Given the description of an element on the screen output the (x, y) to click on. 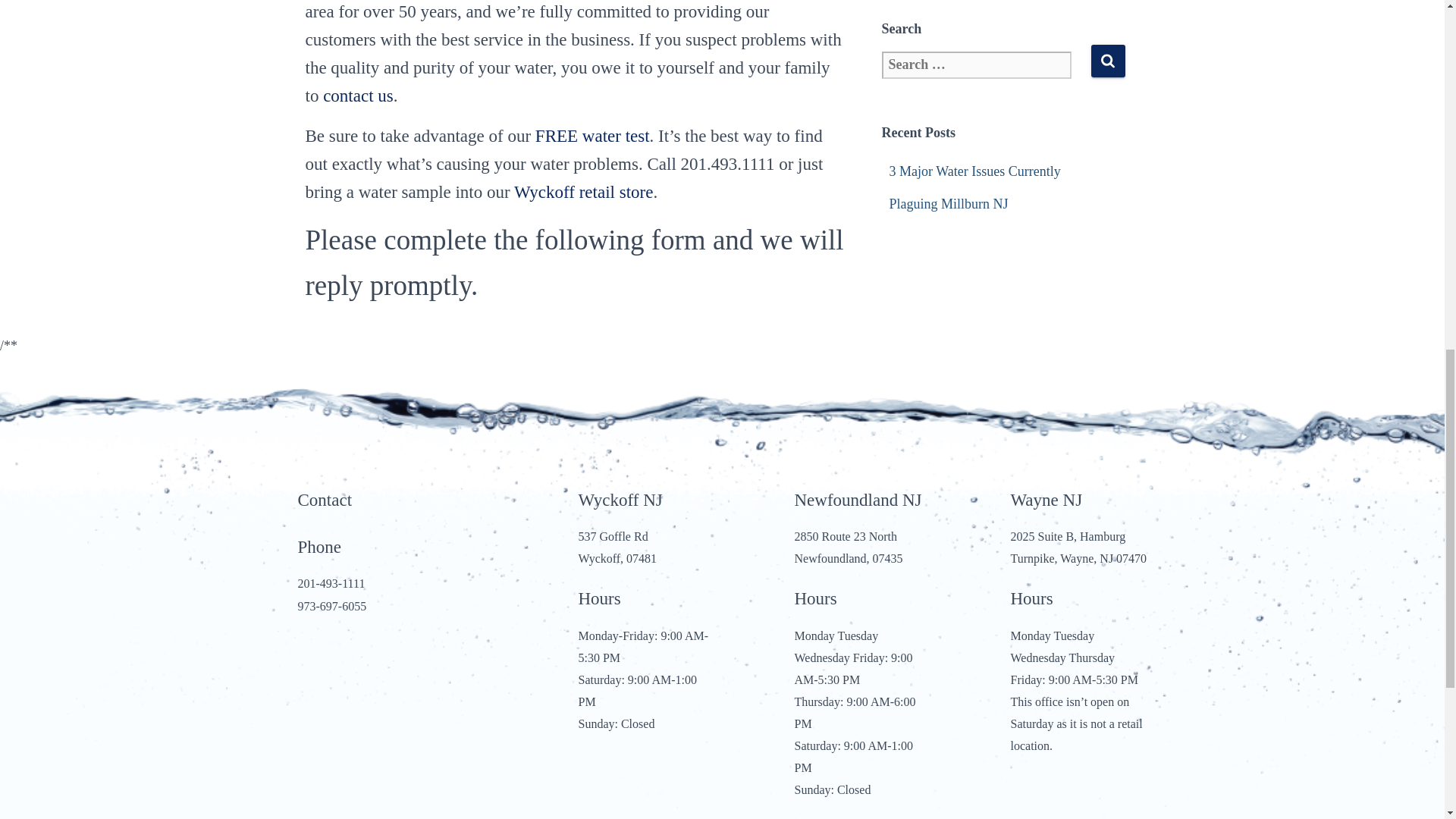
contact us (358, 95)
Wyckoff retail store (582, 191)
FREE water test (592, 135)
Search (1107, 60)
Search (1107, 60)
